Given the description of an element on the screen output the (x, y) to click on. 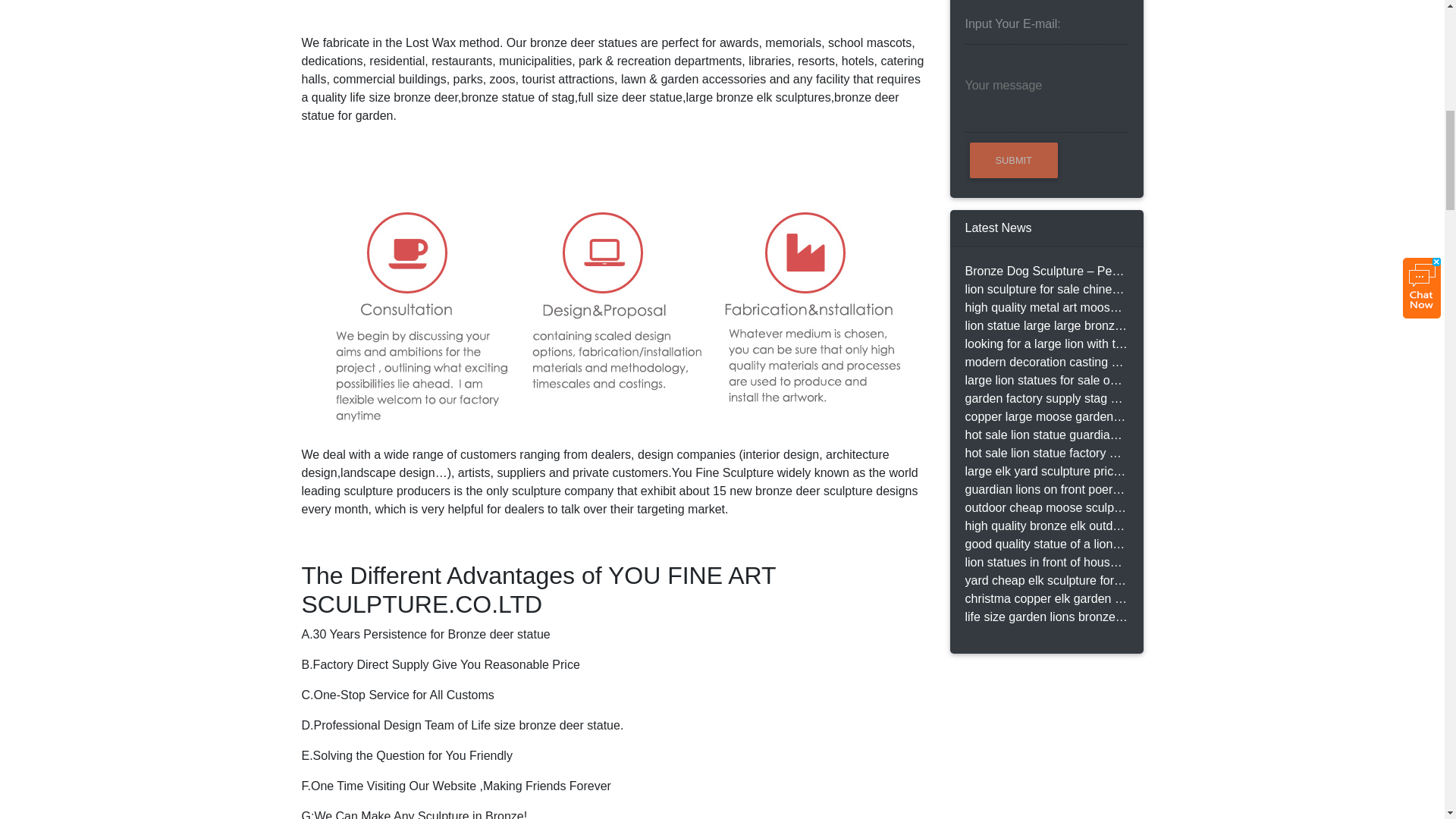
high quality bronze elk outdoor sculpture for yard (1044, 525)
lion sculpture for sale chinese lion bronze (1044, 289)
guardian lions on front poerch bronze lion sculpture (1044, 489)
yard cheap elk sculpture for yard (1044, 580)
christma copper elk garden sculpture for home decor (1044, 598)
hot sale lion statue factory bronze lion statues (1044, 453)
outdoor cheap moose sculpture for sale (1044, 507)
high quality metal art moose yard sculpture for garden decor (1044, 307)
